Given the description of an element on the screen output the (x, y) to click on. 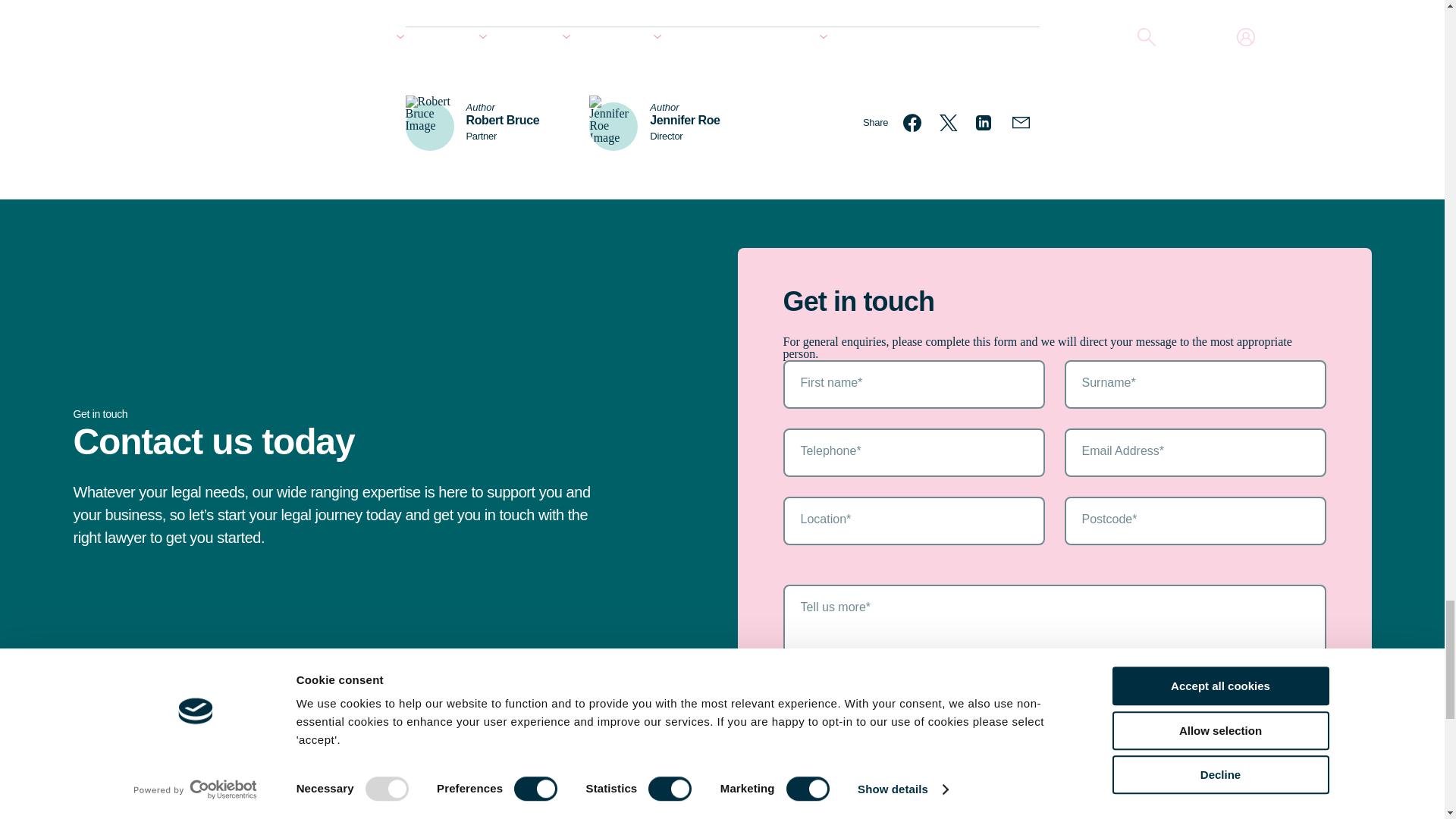
Share via X (948, 122)
Share (875, 122)
Share via LinkedIn (984, 122)
Share via email (1021, 122)
Share via Facebook (911, 122)
